Given the description of an element on the screen output the (x, y) to click on. 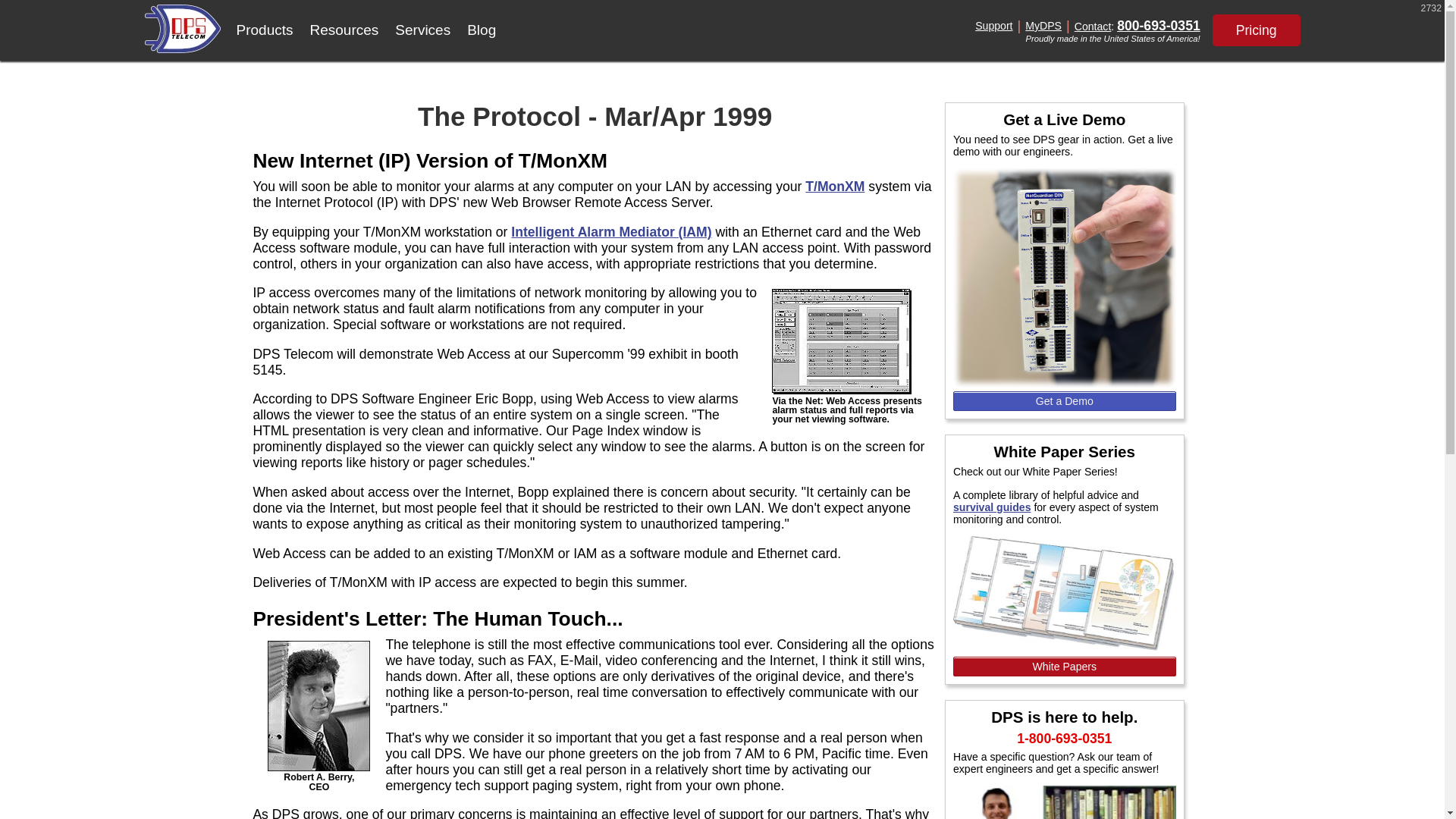
MyDPS (1043, 25)
Support (993, 25)
Products (264, 30)
Services (422, 30)
Resources (344, 30)
800-693-0351 (1157, 25)
Contact (1093, 25)
survival guides (991, 506)
Get a Demo (1064, 401)
Blog (480, 30)
